Given the description of an element on the screen output the (x, y) to click on. 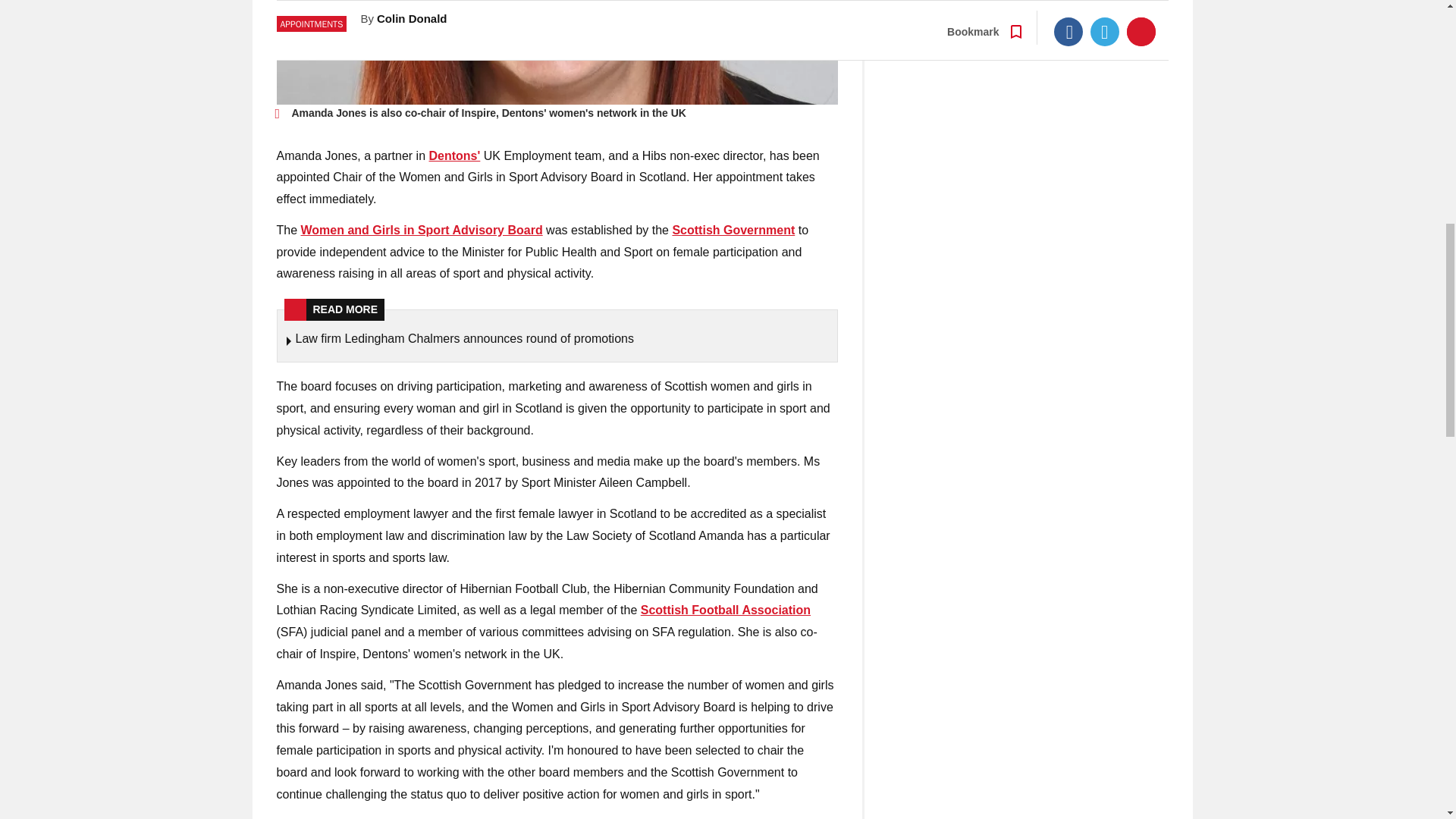
Women and Girls in Sport Advisory Board (422, 229)
Dentons' (454, 154)
